Given the description of an element on the screen output the (x, y) to click on. 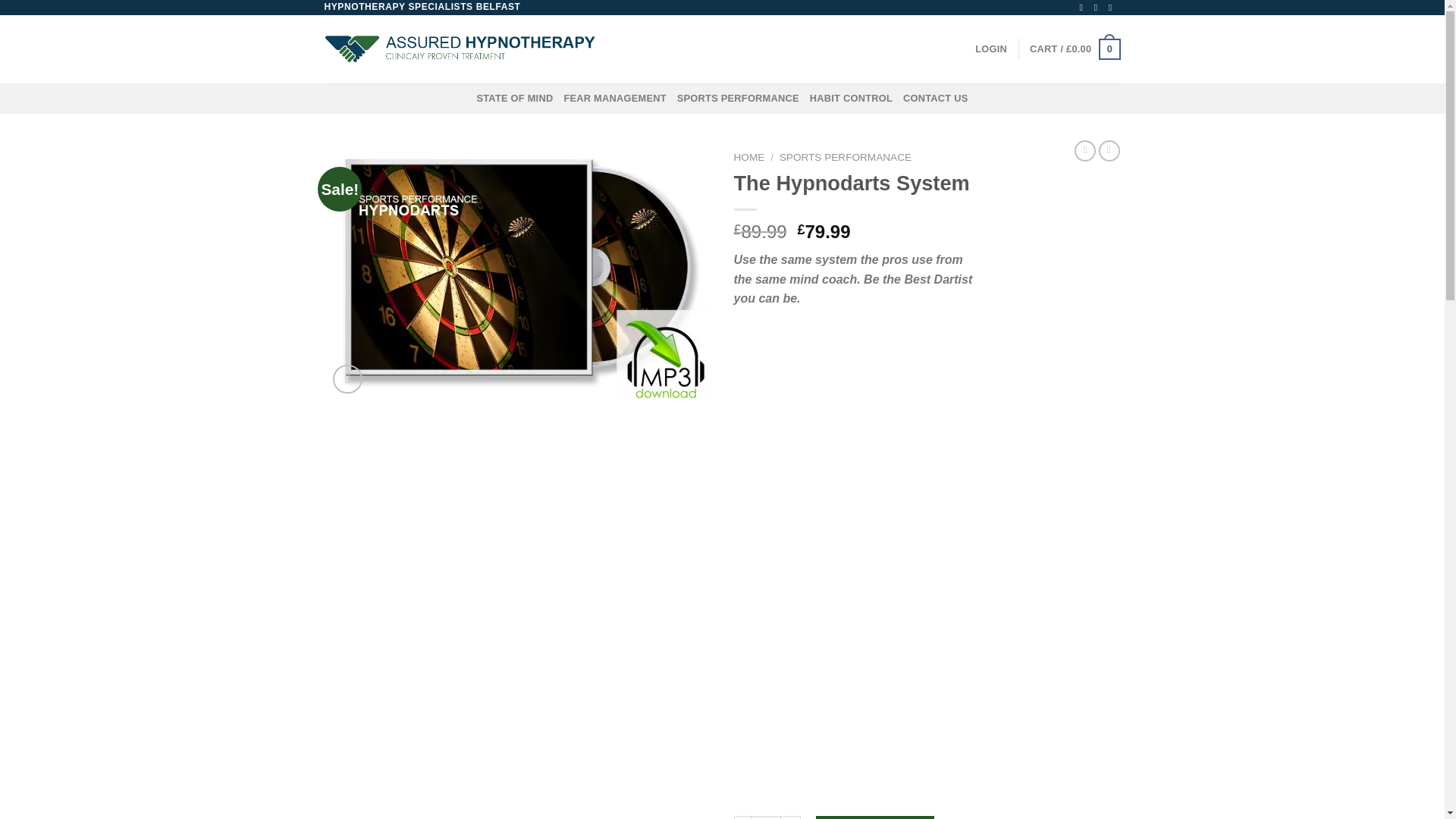
SPORTS PERFORMANCE (738, 98)
LOGIN (991, 49)
Qty (765, 817)
- (742, 817)
SPORTS PERFORMANACE (844, 156)
FEAR MANAGEMENT (614, 98)
1 (765, 817)
Cart (1074, 48)
HABIT CONTROL (850, 98)
STATE OF MIND (514, 98)
Assured Hypnotherapy - Just another WordPress site (459, 48)
SPORTS DARTSb (517, 272)
CONTACT US (935, 98)
ADD TO CART (874, 817)
HOME (749, 156)
